Given the description of an element on the screen output the (x, y) to click on. 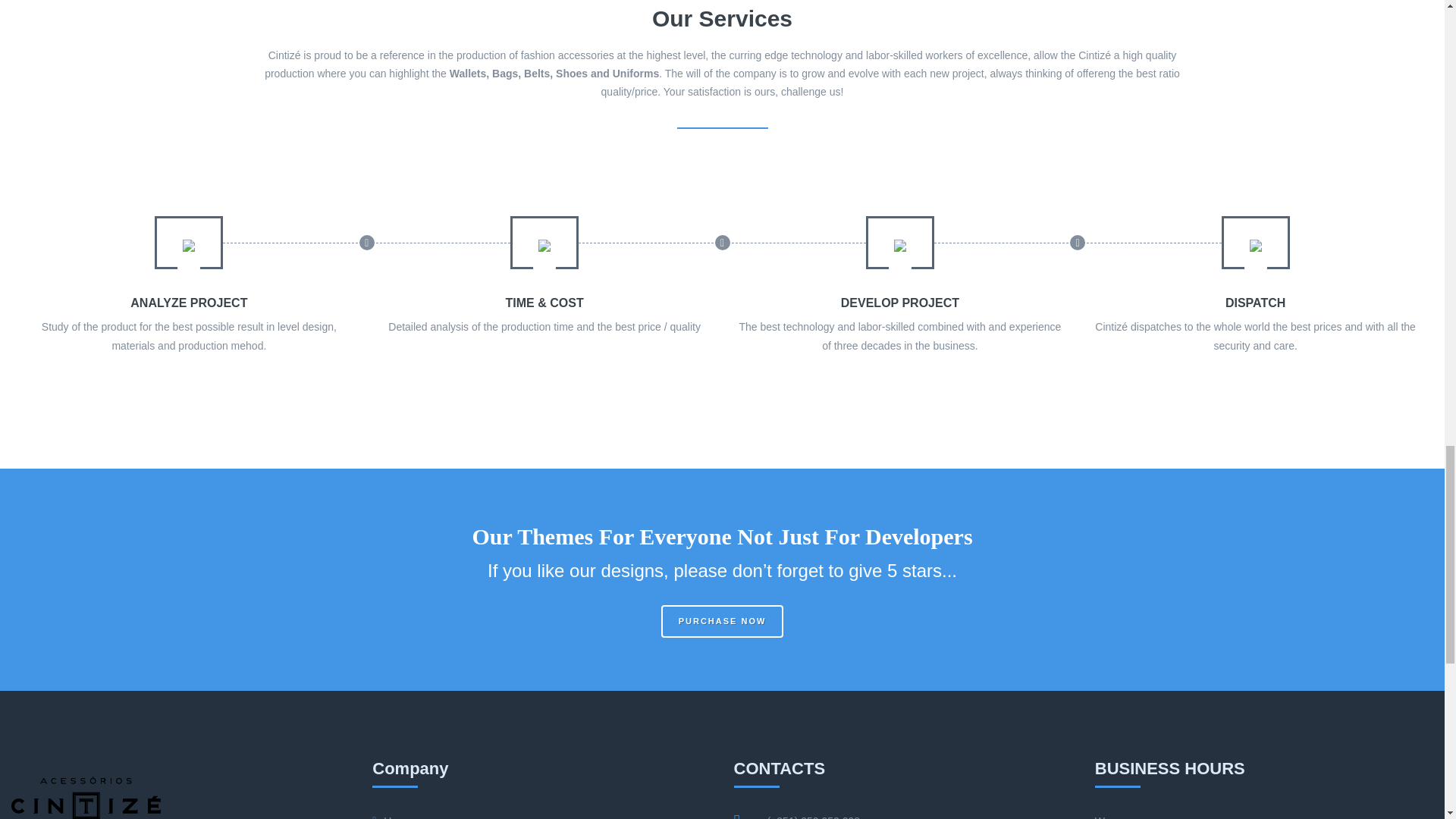
PURCHASE NOW (722, 621)
Logo (85, 797)
Purchase now (722, 621)
